Given the description of an element on the screen output the (x, y) to click on. 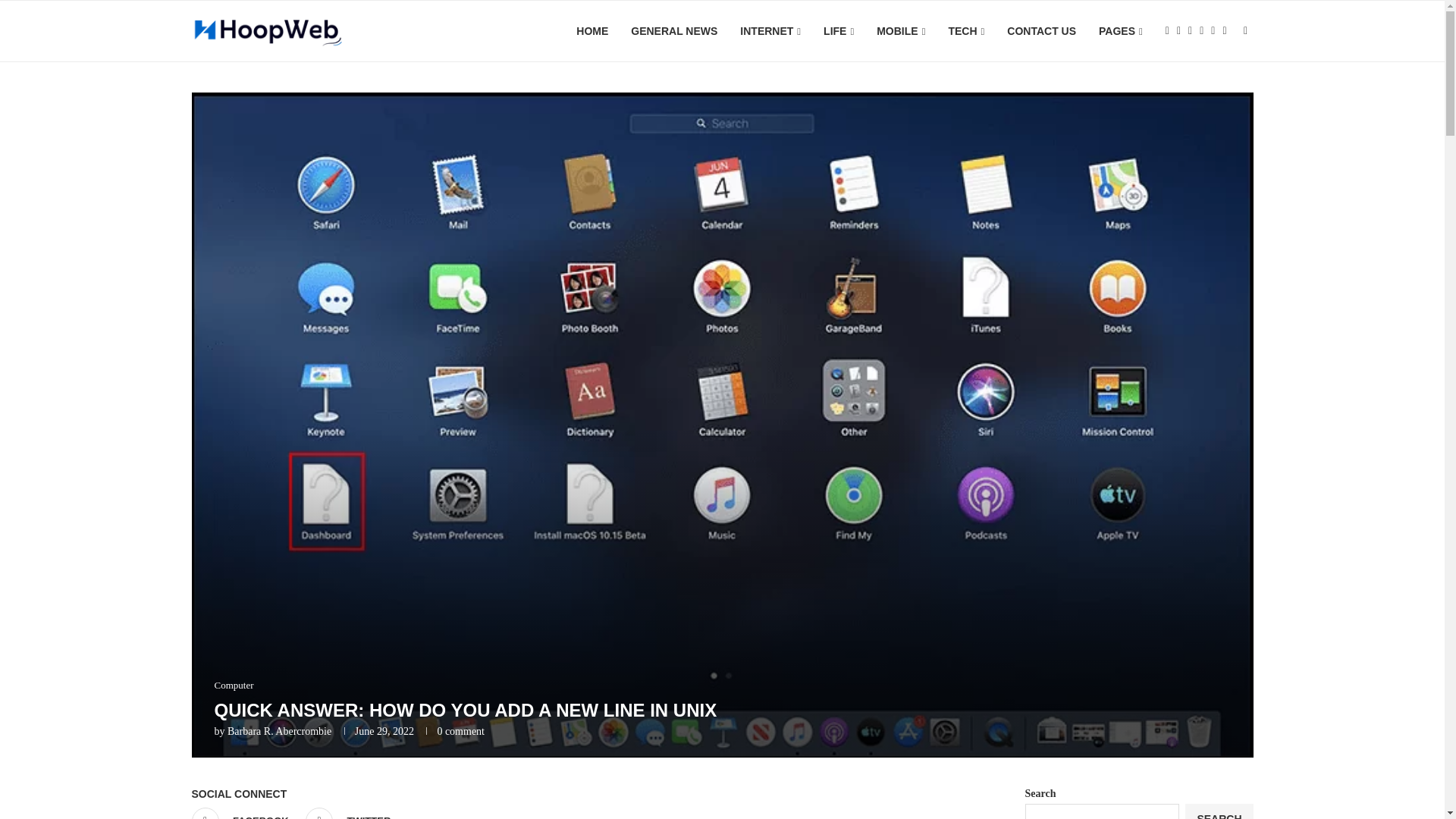
GENERAL NEWS (673, 30)
CONTACT US (1041, 30)
INTERNET (769, 31)
